Given the description of an element on the screen output the (x, y) to click on. 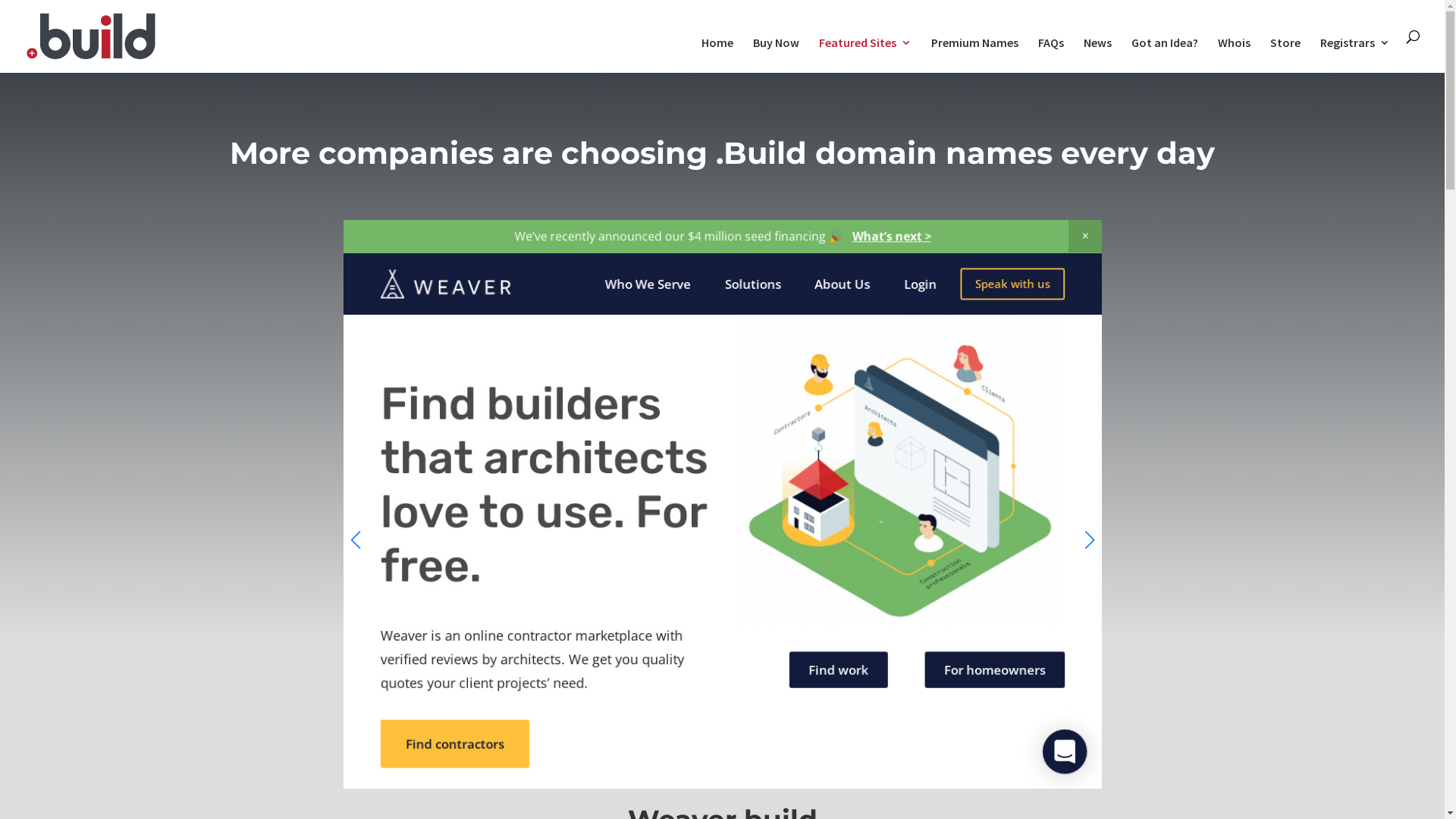
News Element type: text (1097, 54)
Store Element type: text (1285, 54)
Featured Sites Element type: text (865, 54)
Buy Now Element type: text (776, 54)
FAQs Element type: text (1050, 54)
Got an Idea? Element type: text (1164, 54)
Home Element type: text (717, 54)
Whois Element type: text (1233, 54)
Skip to content Element type: text (0, 0)
Premium Names Element type: text (974, 54)
Registrars Element type: text (1355, 54)
